Given the description of an element on the screen output the (x, y) to click on. 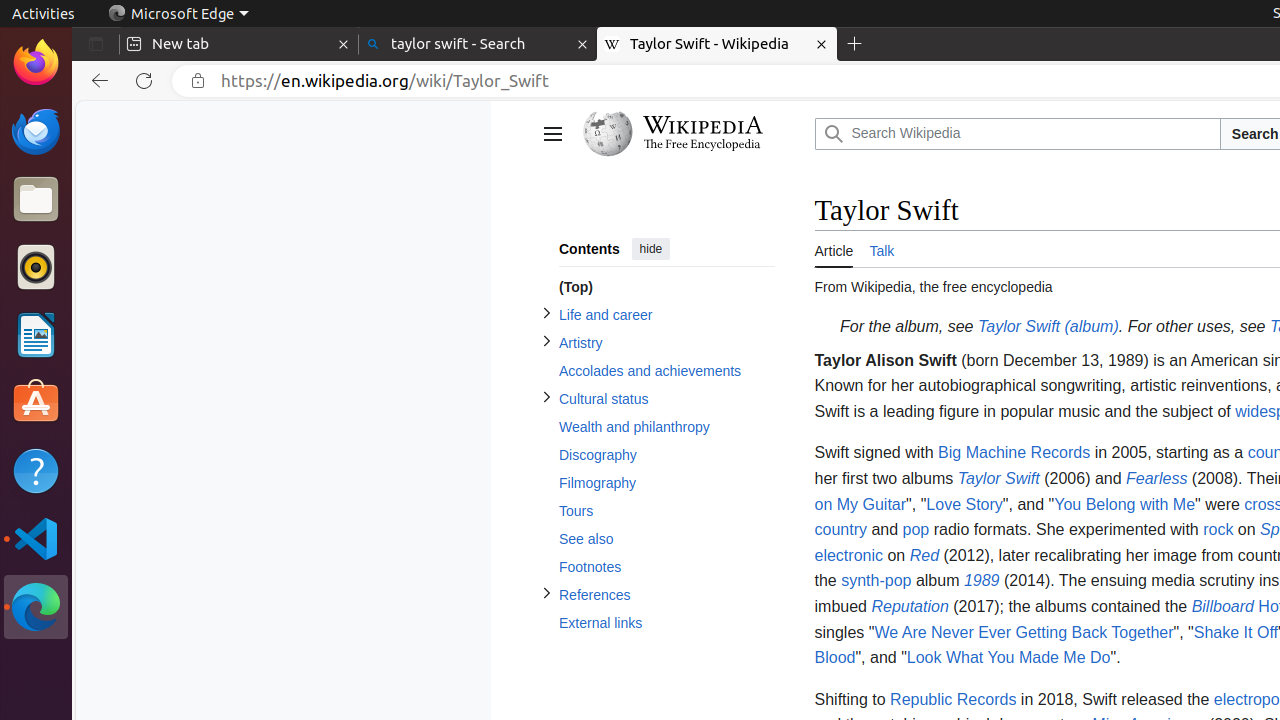
Filmography Element type: link (666, 483)
Visual Studio Code Element type: push-button (36, 538)
Close tab Element type: push-button (343, 44)
Fearless Element type: link (1157, 478)
Discography Element type: link (666, 455)
